Given the description of an element on the screen output the (x, y) to click on. 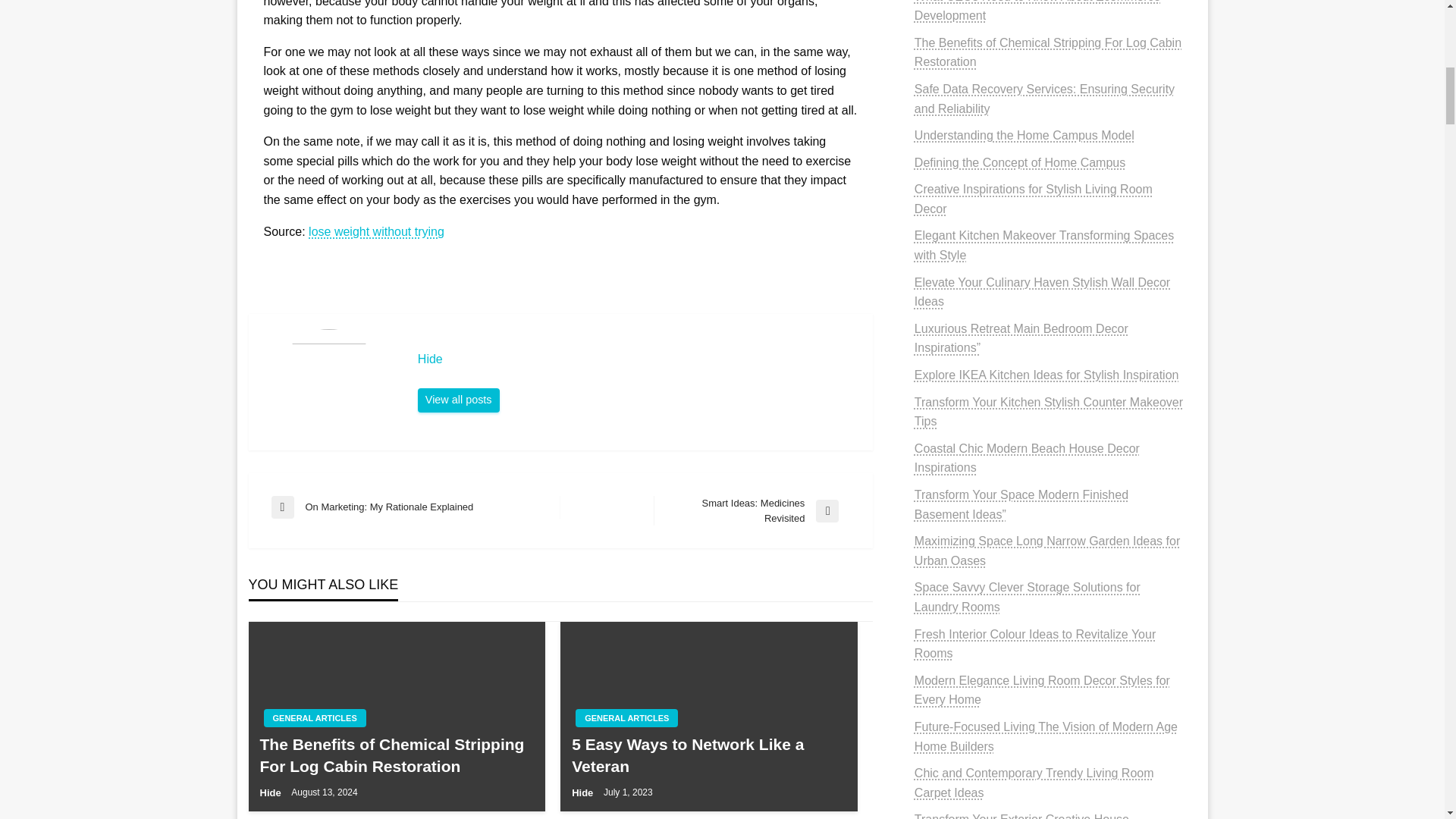
Hide (458, 400)
Hide (637, 359)
Hide (637, 359)
lose weight without trying (376, 231)
View all posts (458, 400)
